Given the description of an element on the screen output the (x, y) to click on. 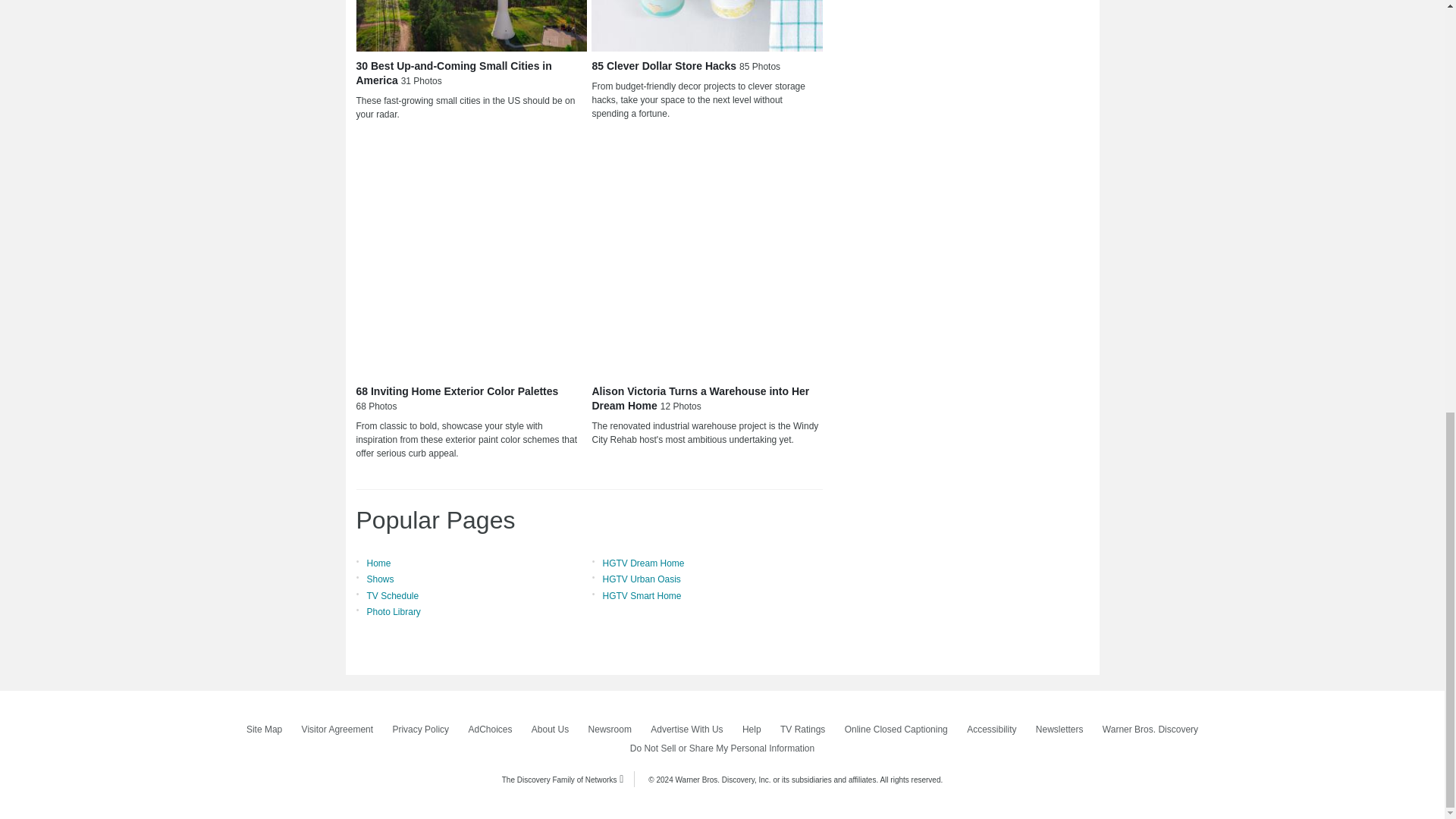
Alison Victoria Turns a Warehouse into Her Dream Home (706, 259)
85 Clever Dollar Store Hacks (706, 25)
30 Best Up-and-Coming Small Cities in America (472, 25)
68 Inviting Home Exterior Color Palettes (472, 259)
